Given the description of an element on the screen output the (x, y) to click on. 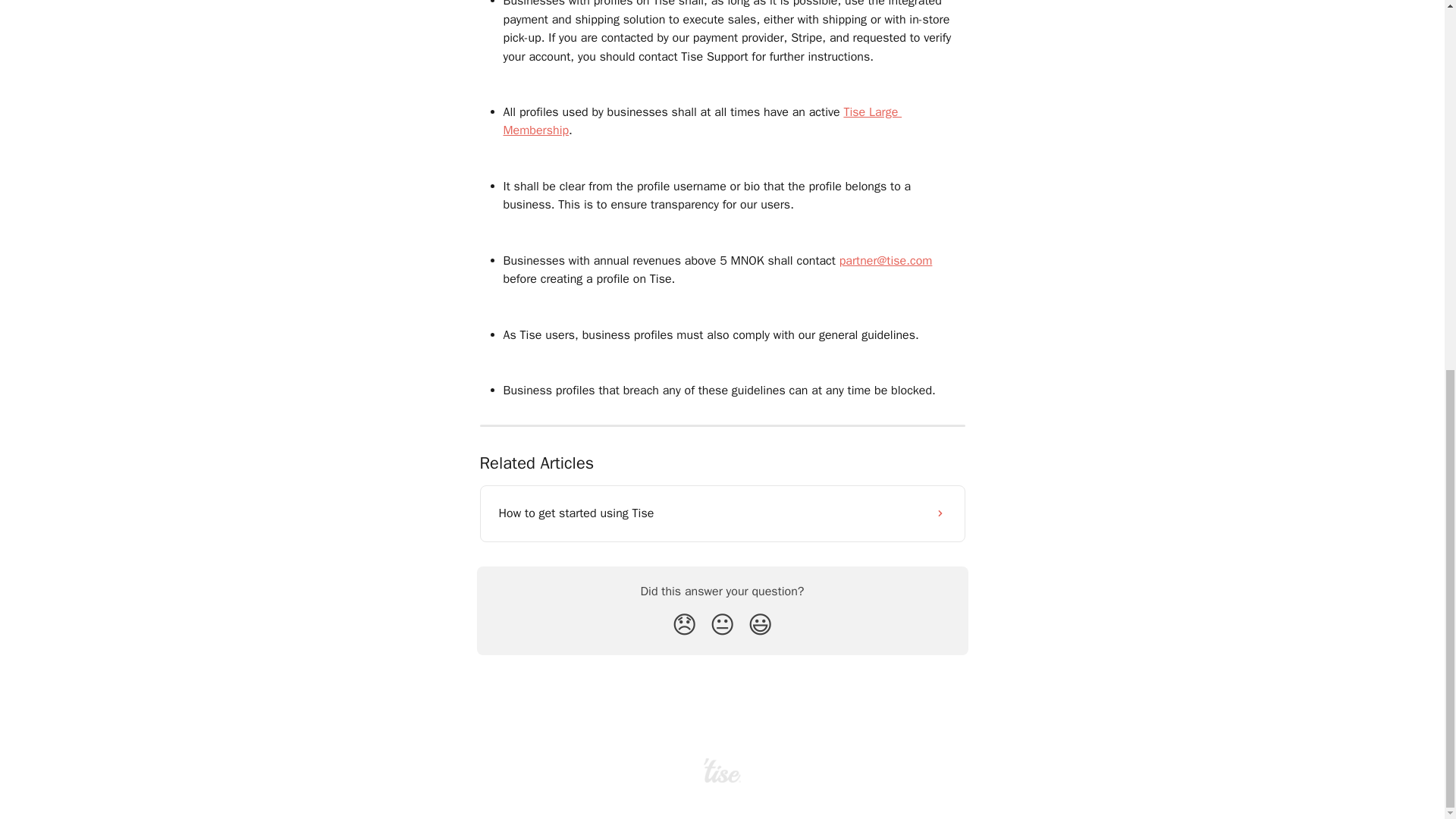
Smiley (760, 624)
How to get started using Tise (722, 513)
Neutral (722, 624)
Tise Large Membership (702, 121)
Disappointed (684, 624)
